Given the description of an element on the screen output the (x, y) to click on. 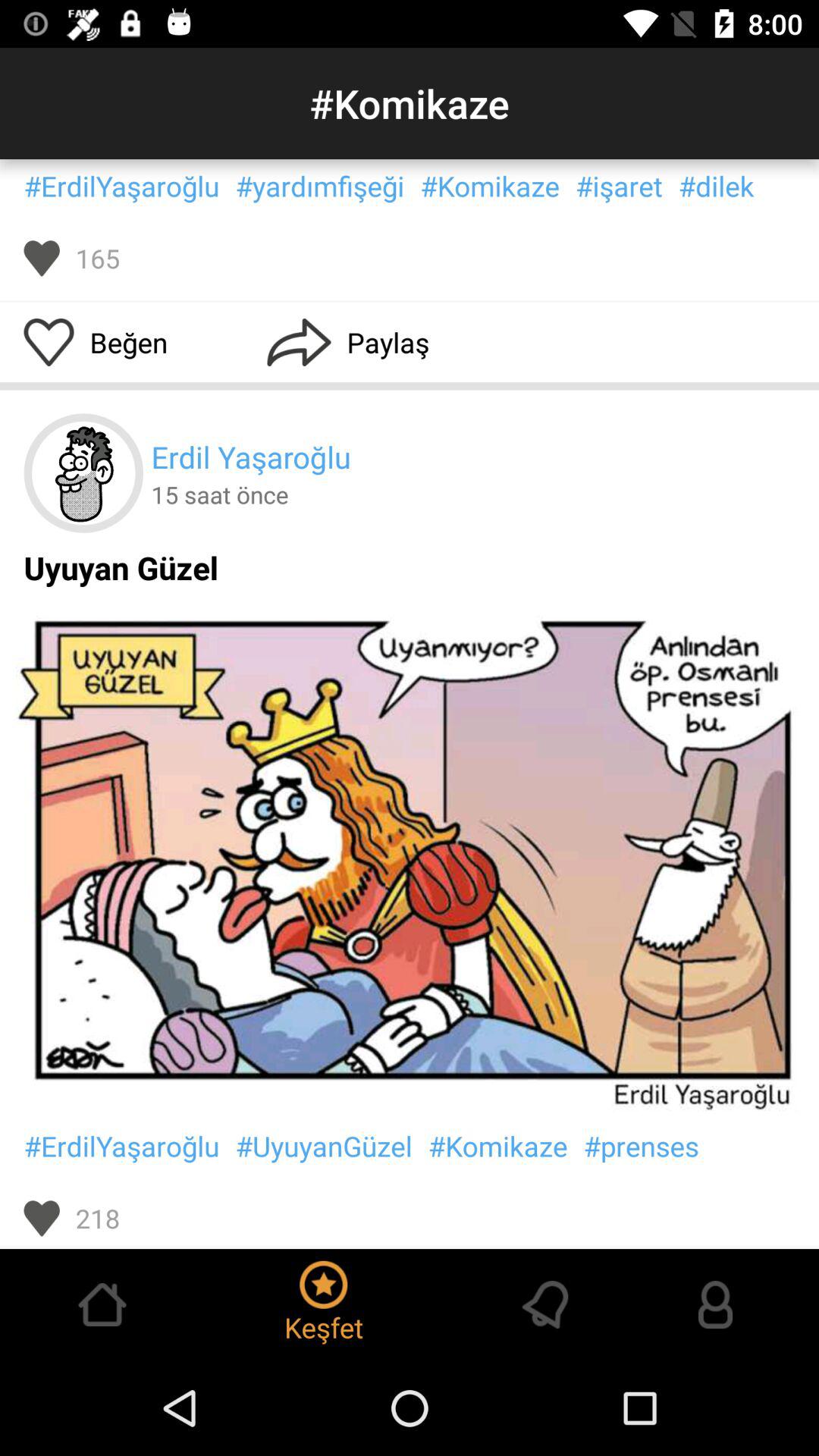
select icon next to #komikaze icon (319, 185)
